Given the description of an element on the screen output the (x, y) to click on. 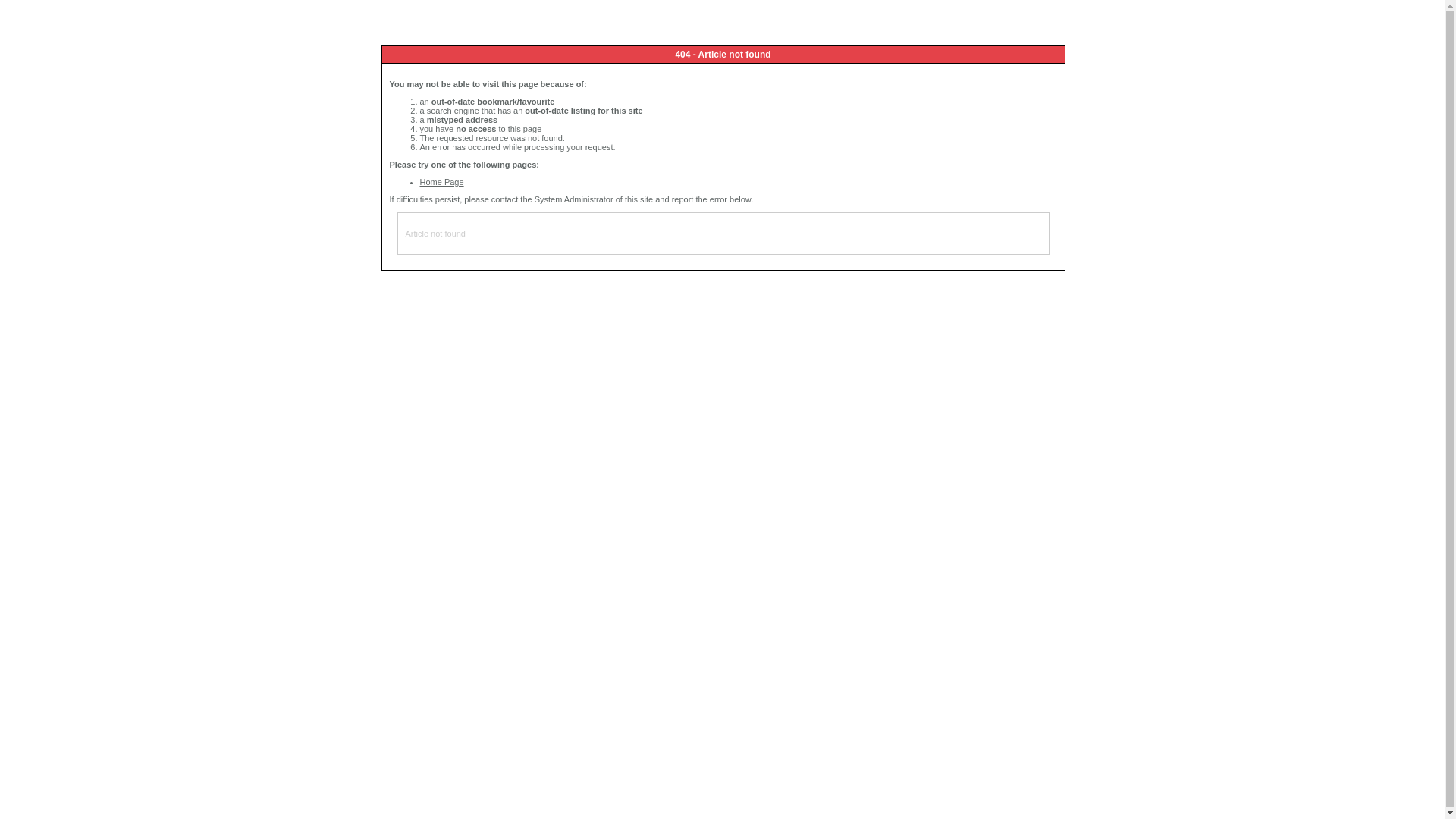
Home Page Element type: text (442, 181)
